Given the description of an element on the screen output the (x, y) to click on. 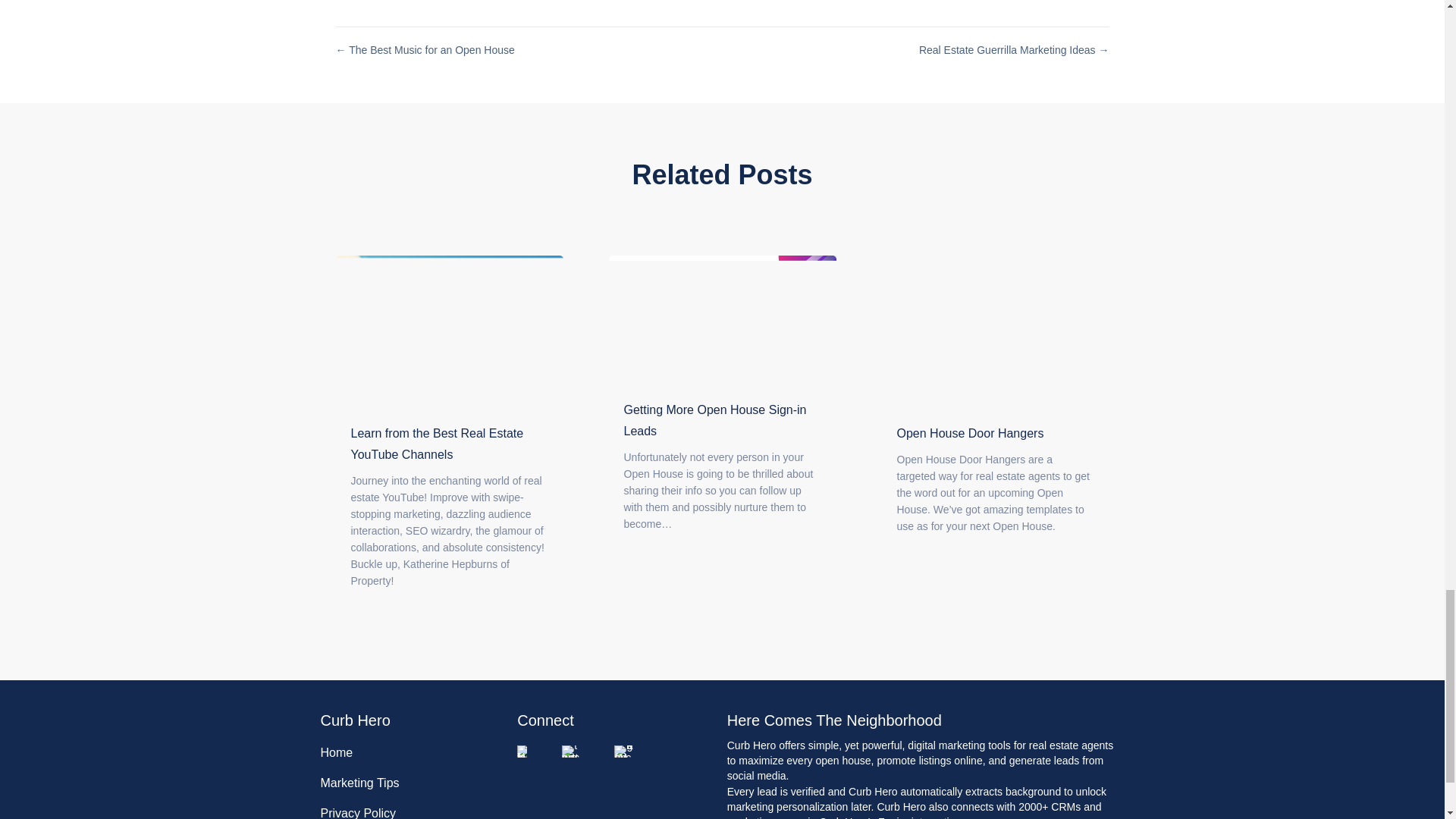
Getting More Open House Sign-in Leads (714, 420)
Open House Door Hangers (969, 432)
Learn from the Best Real Estate YouTube Channels (448, 330)
Open House Door Hangers (994, 330)
twittericon (571, 751)
Learn from the Best Real Estate YouTube Channels (436, 443)
Getting More Open House Sign-in Leads (721, 318)
